Given the description of an element on the screen output the (x, y) to click on. 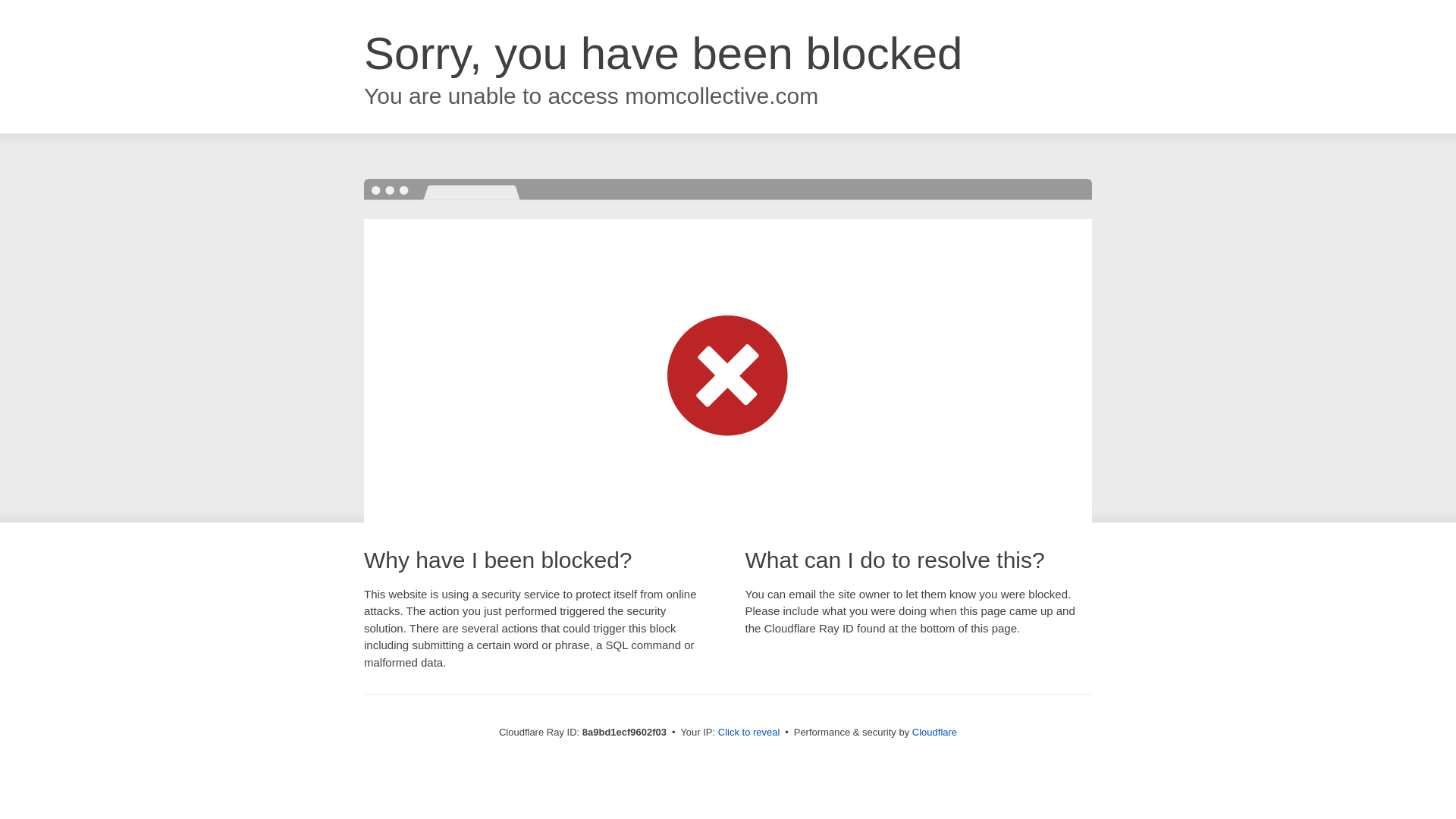
Cloudflare (934, 731)
Click to reveal (748, 732)
